Given the description of an element on the screen output the (x, y) to click on. 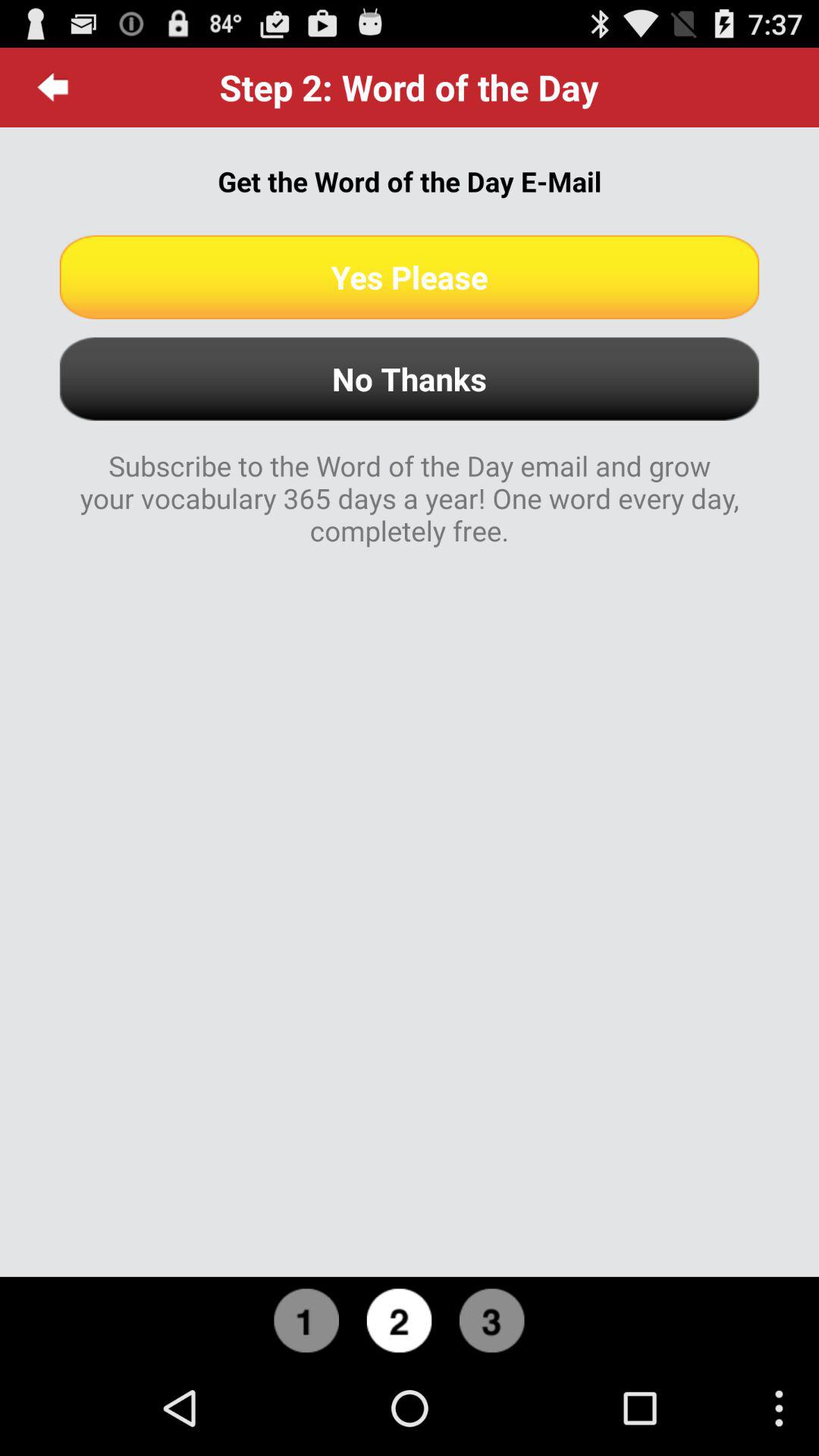
select icon below get the word app (409, 277)
